Given the description of an element on the screen output the (x, y) to click on. 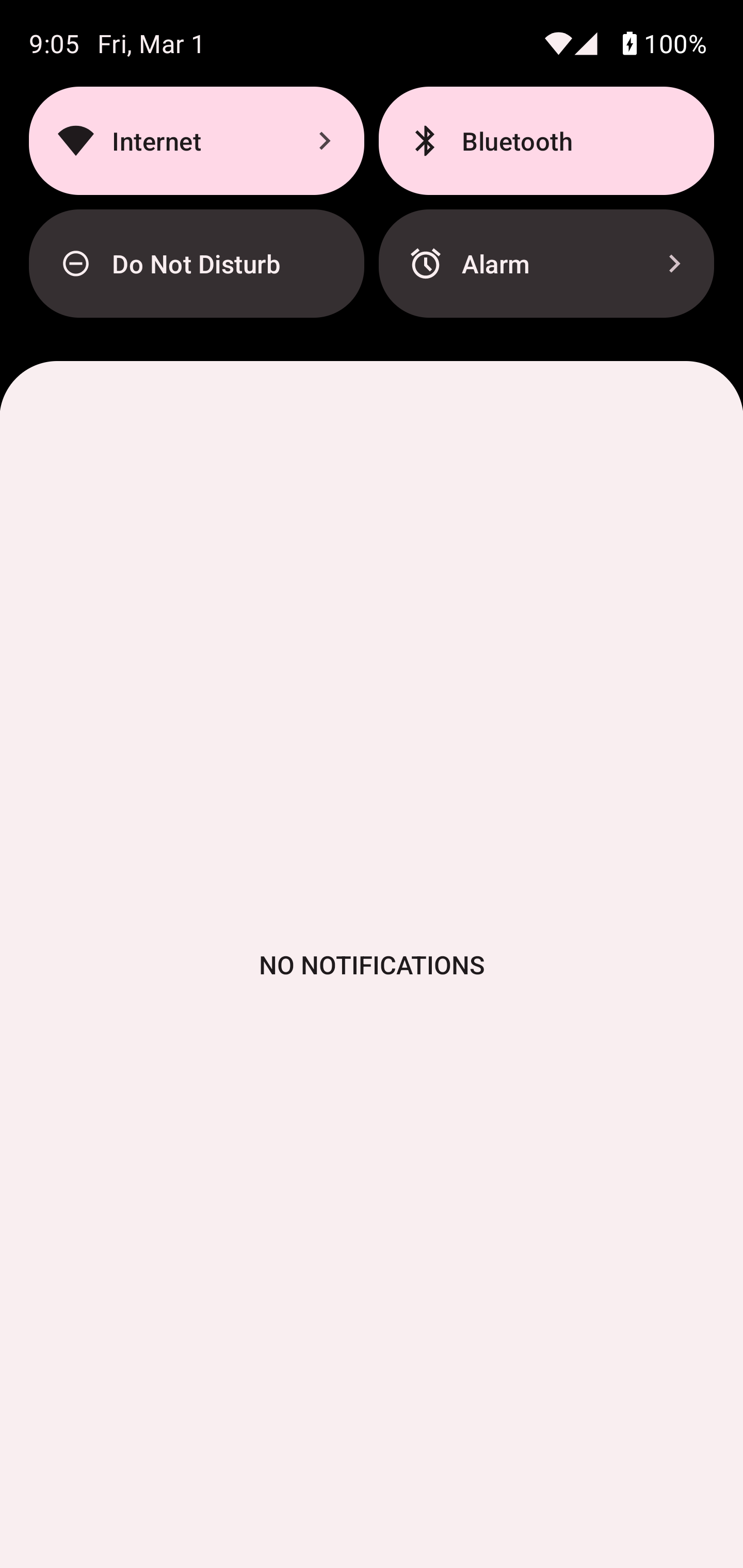
On Internet,AndroidWifi Internet (196, 140)
On Bluetooth. Bluetooth (546, 140)
Off Do Not Disturb. Do Not Disturb (196, 264)
Alarm, No alarm set Alarm (546, 264)
NO NOTIFICATIONS (371, 964)
